Given the description of an element on the screen output the (x, y) to click on. 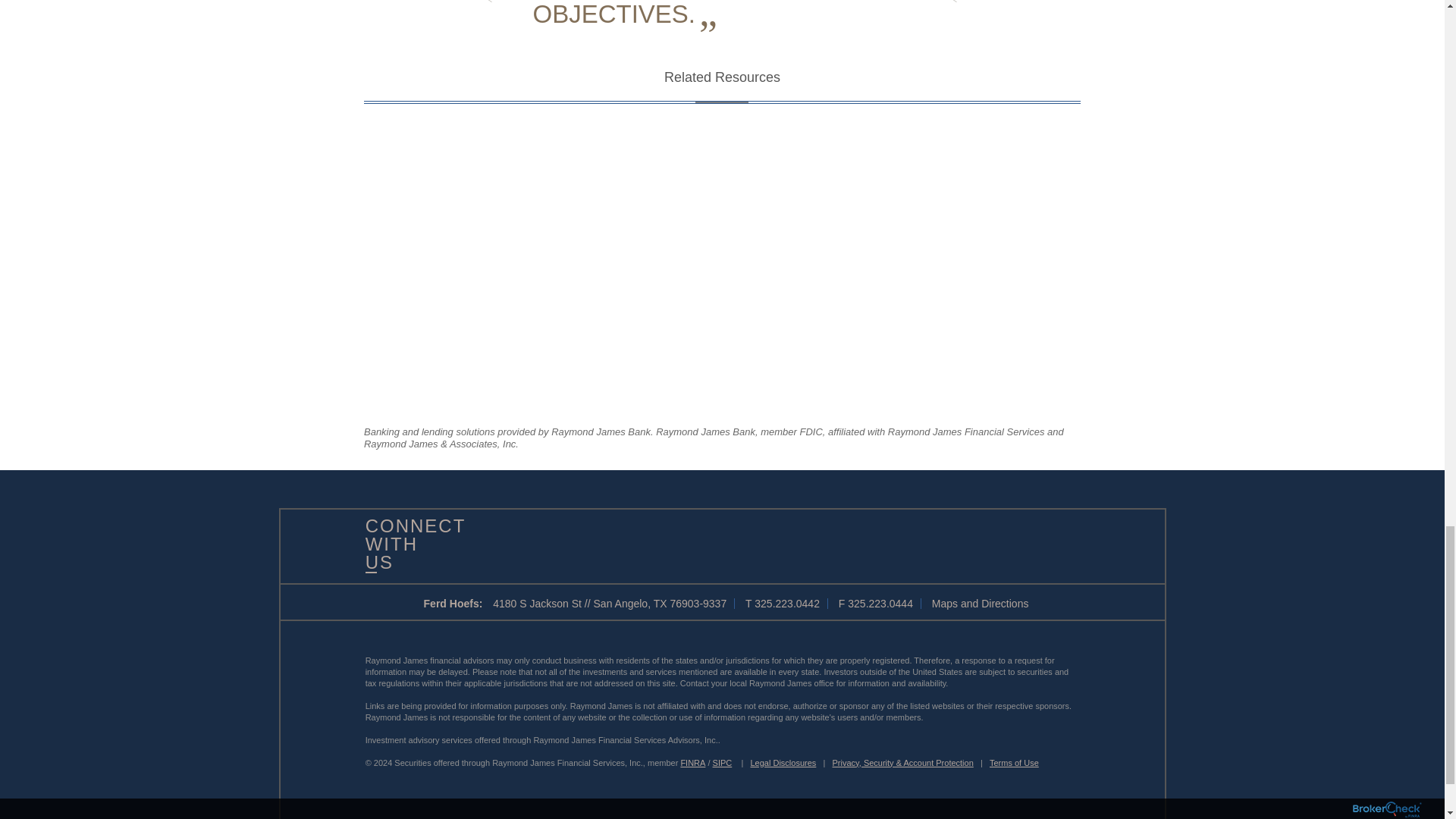
Privacy, Security and Account Protection (903, 762)
FINRA (691, 762)
Terms of Use (1014, 762)
SIPC (722, 762)
Legal Disclosures (783, 762)
